Given the description of an element on the screen output the (x, y) to click on. 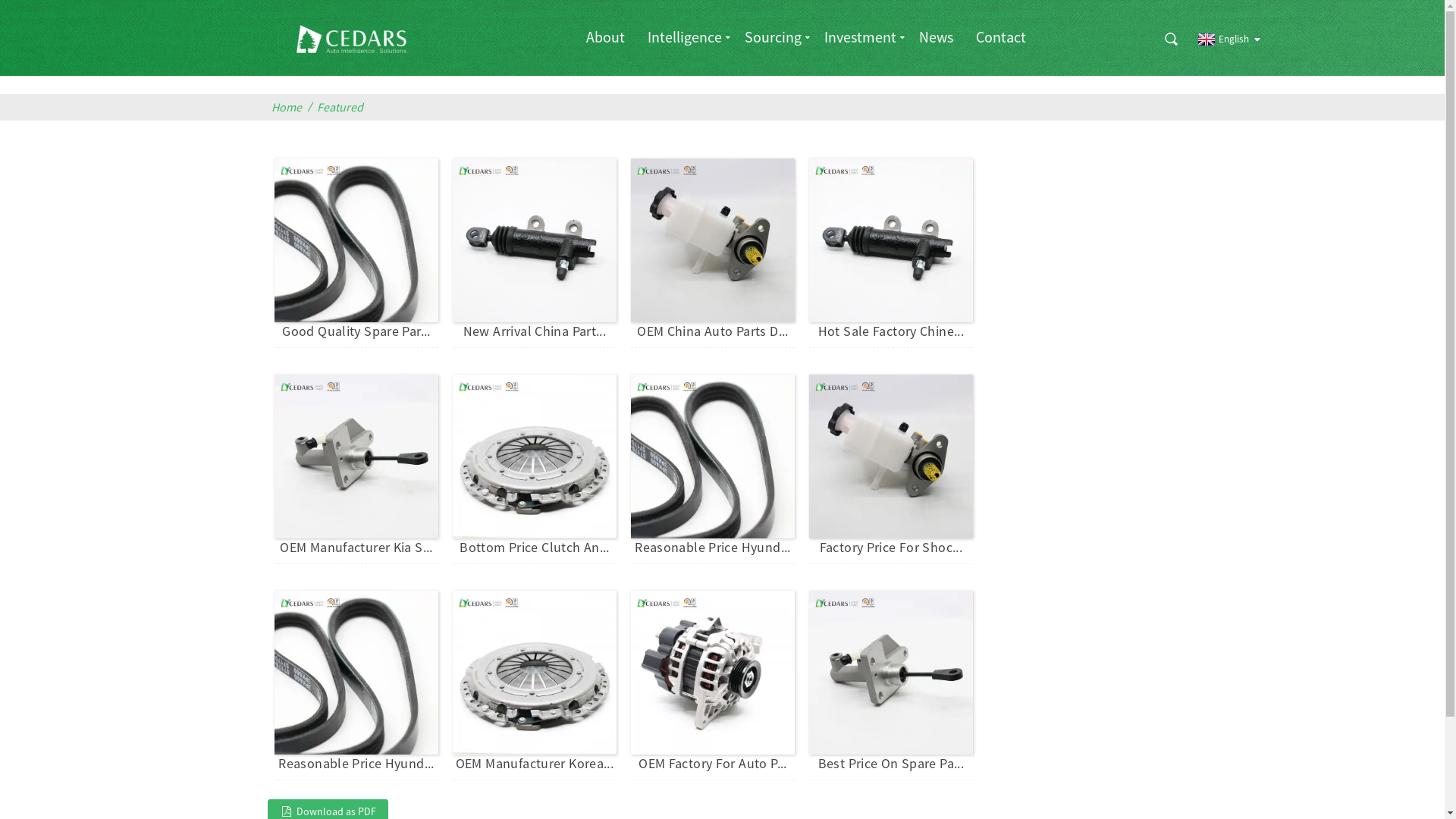
Good Quality Spare Par... Element type: text (356, 330)
Bottom Price Clutch An... Element type: text (534, 546)
About Element type: text (605, 36)
Investment Element type: text (860, 36)
Best Price On Spare Pa... Element type: text (891, 762)
English Element type: text (1220, 39)
Sourcing Element type: text (772, 36)
OEM Manufacturer Korea... Element type: text (534, 762)
Intelligence Element type: text (684, 36)
Featured Element type: text (342, 107)
OEM Manufacturer Kia S... Element type: text (356, 546)
Reasonable Price Hyund... Element type: text (356, 762)
Reasonable Price Hyund... Element type: text (712, 546)
OEM China Auto Parts D... Element type: text (712, 330)
Home Element type: text (289, 107)
Hot Sale Factory Chine... Element type: text (891, 330)
Factory Price For Shoc... Element type: text (891, 546)
New Arrival China Part... Element type: text (534, 330)
News Element type: text (936, 36)
OEM Factory For Auto P... Element type: text (712, 762)
Contact Element type: text (1000, 36)
